Given the description of an element on the screen output the (x, y) to click on. 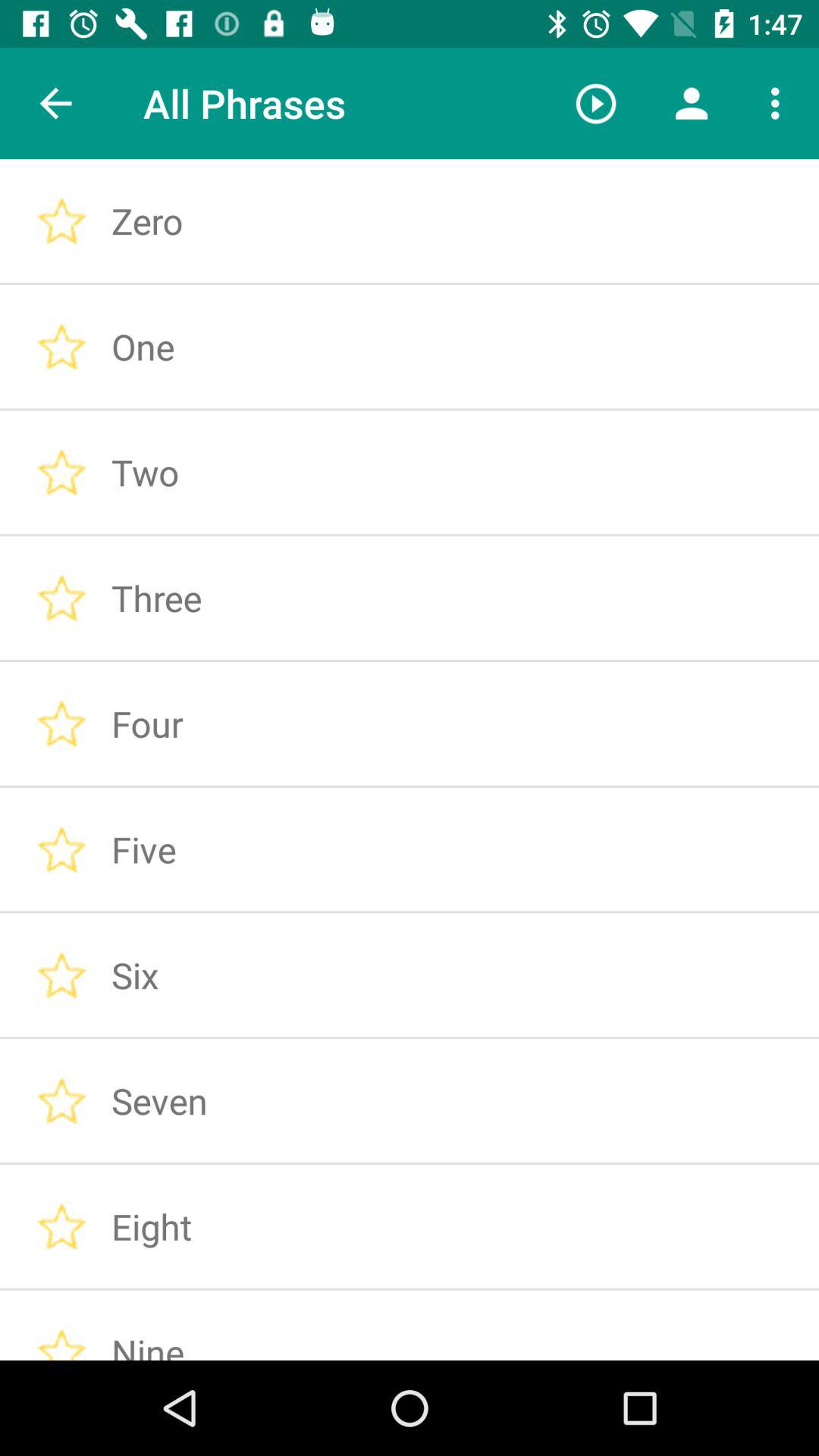
click icon to the right of all phrases icon (595, 103)
